Given the description of an element on the screen output the (x, y) to click on. 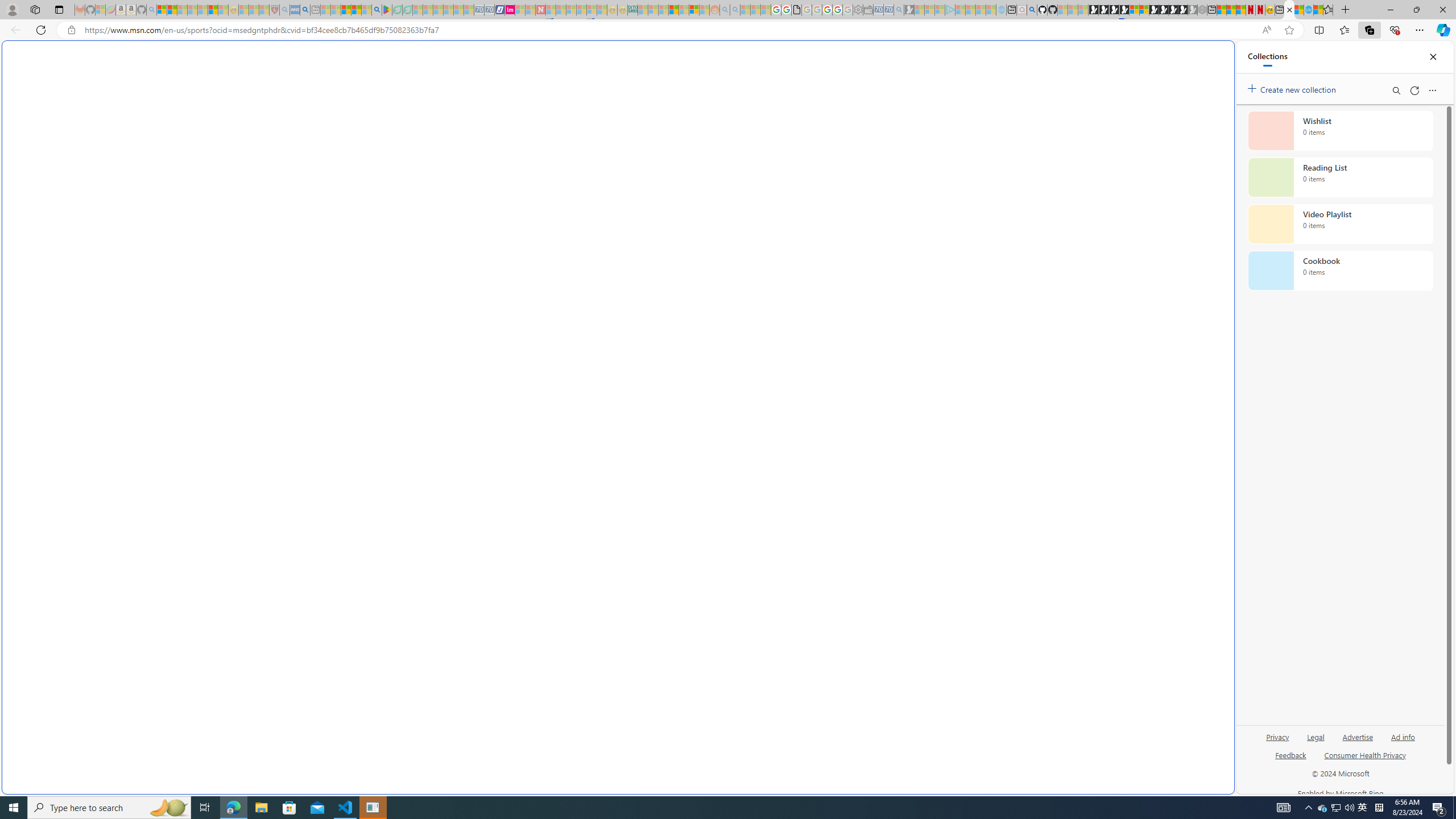
Tabs you've opened (885, 151)
